Given the description of an element on the screen output the (x, y) to click on. 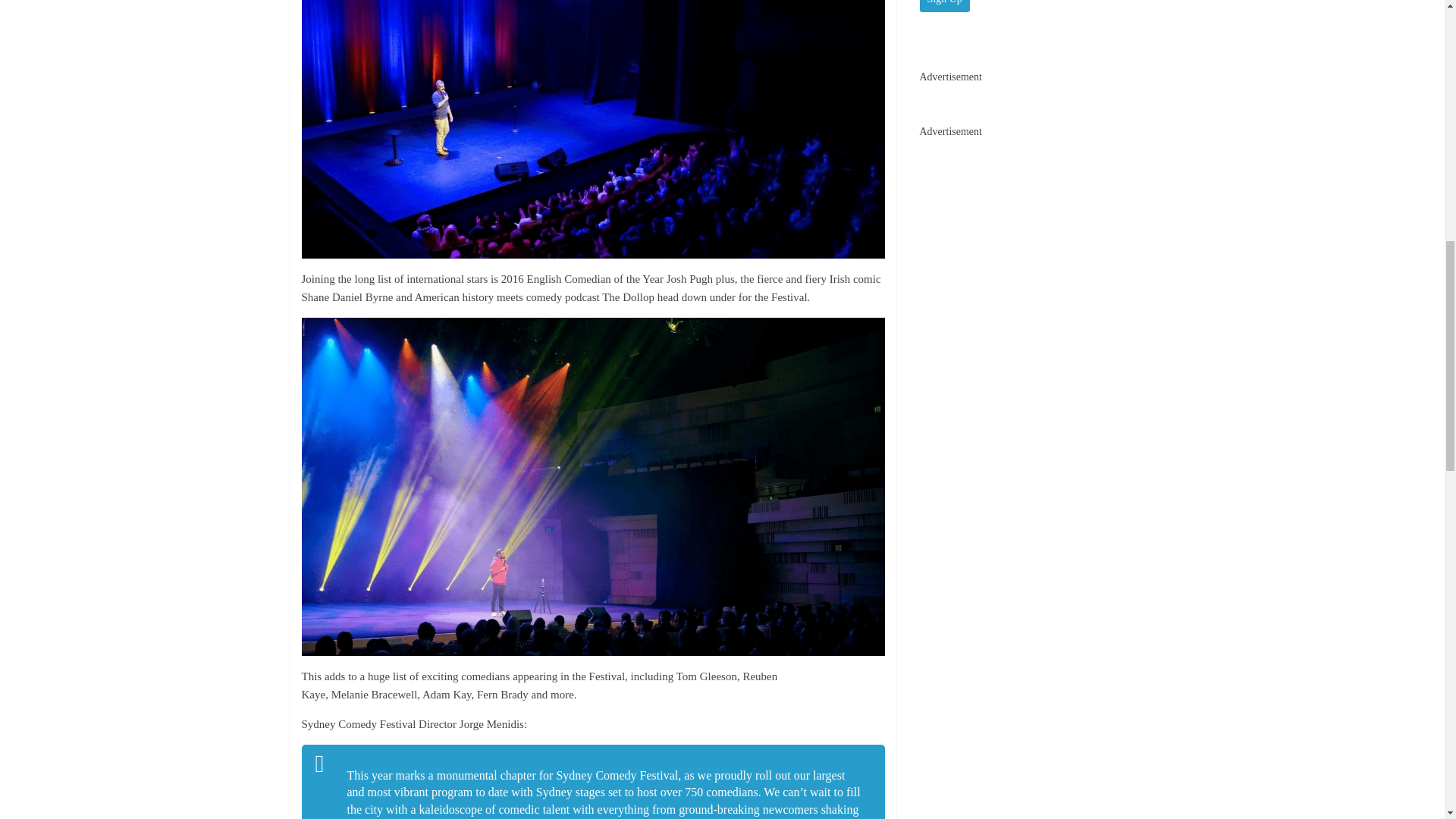
Sign Up (943, 5)
Sign Up (943, 5)
